Given the description of an element on the screen output the (x, y) to click on. 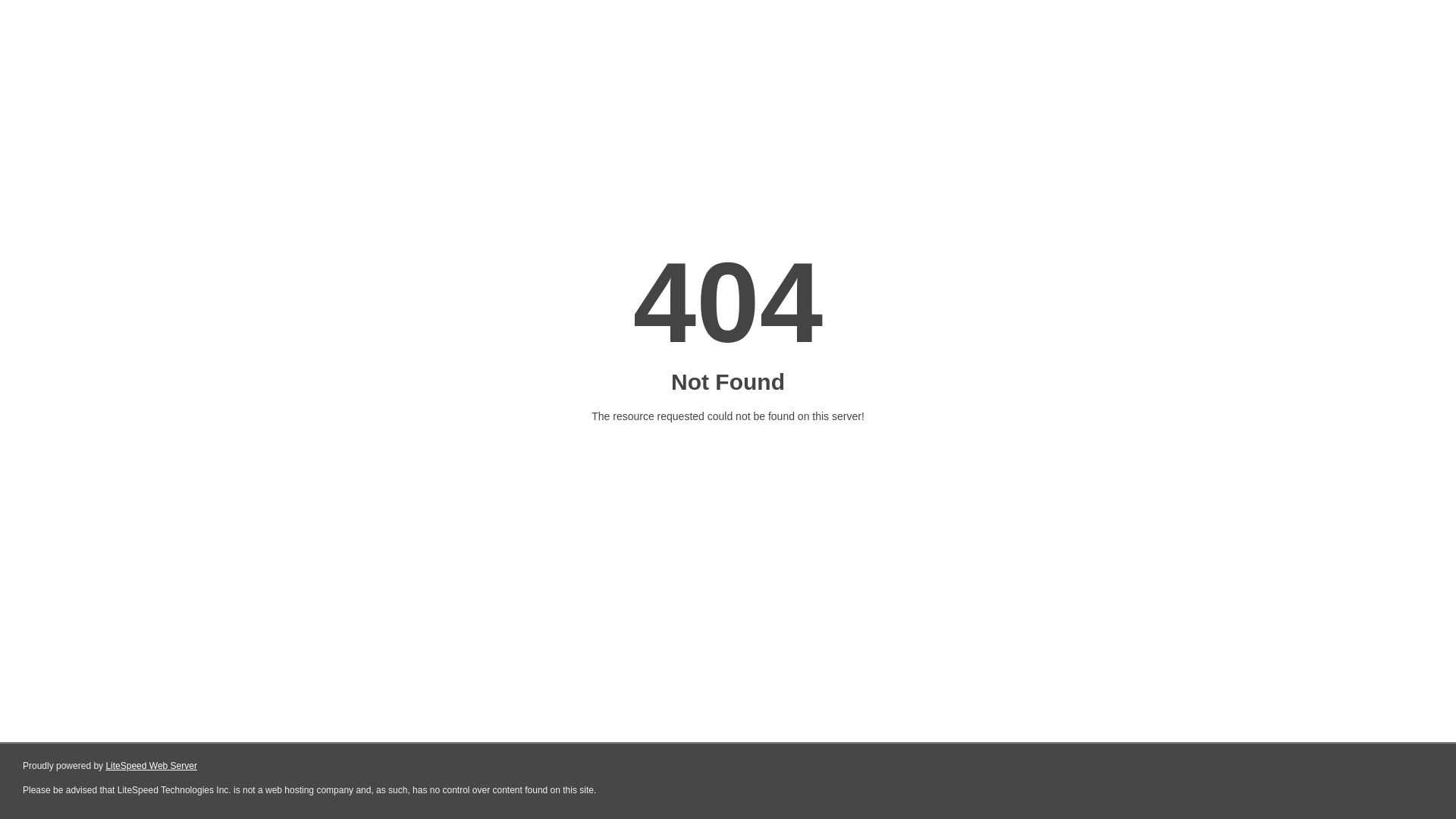
LiteSpeed Web Server Element type: text (151, 765)
